Given the description of an element on the screen output the (x, y) to click on. 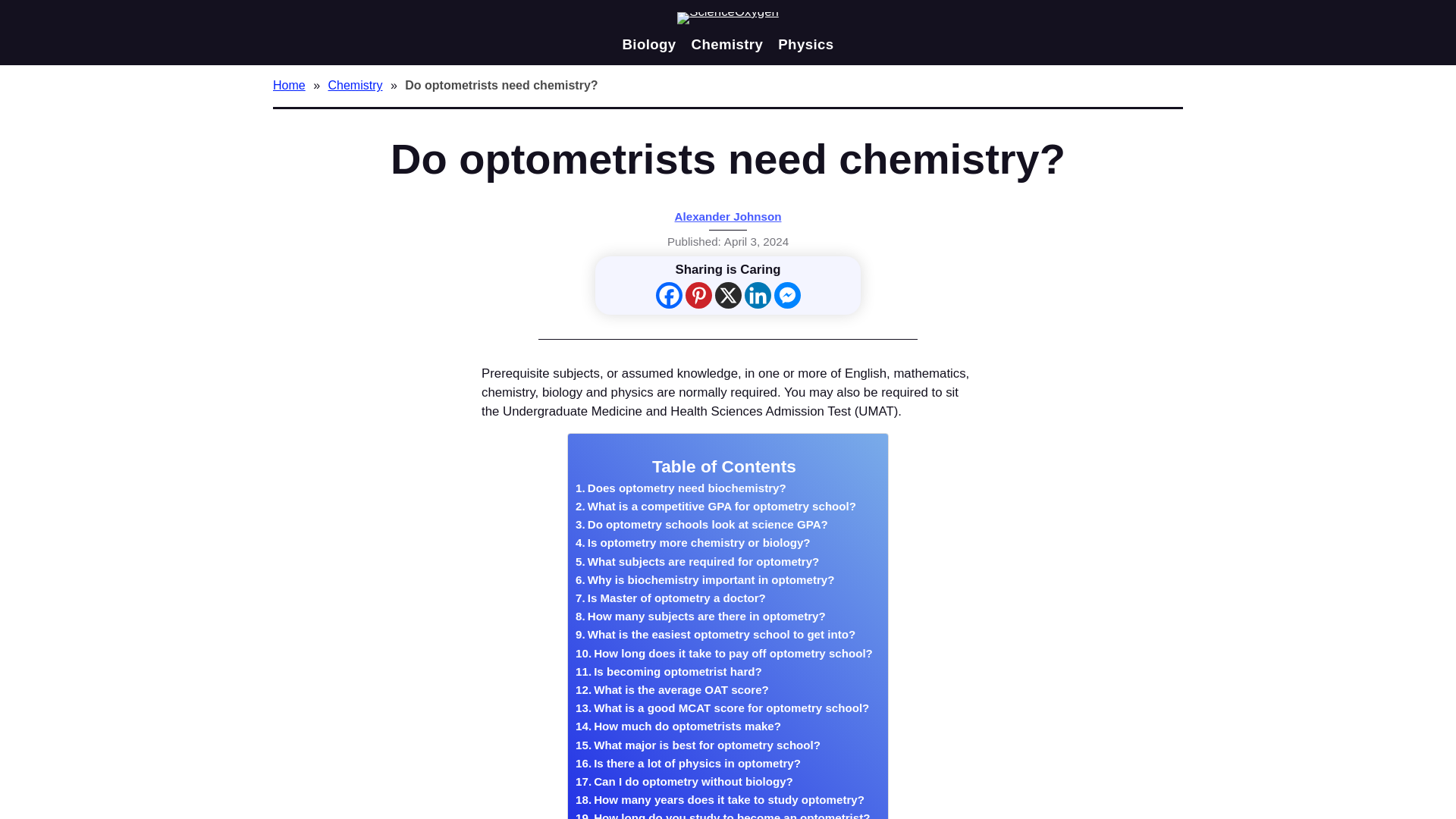
How long does it take to pay off optometry school? (723, 653)
Does optometry need biochemistry? (680, 488)
Is becoming optometrist hard? (668, 671)
Do optometry schools look at science GPA? (701, 524)
Linkedin (757, 294)
Can I do optometry without biology? (684, 782)
Is optometry more chemistry or biology? (692, 542)
Why is biochemistry important in optometry? (704, 579)
Physics (804, 44)
Alexander Johnson (728, 215)
Is becoming optometrist hard? (668, 671)
Is optometry more chemistry or biology? (692, 542)
Is Master of optometry a doctor? (670, 597)
Do optometry schools look at science GPA? (701, 524)
What major is best for optometry school? (698, 745)
